Given the description of an element on the screen output the (x, y) to click on. 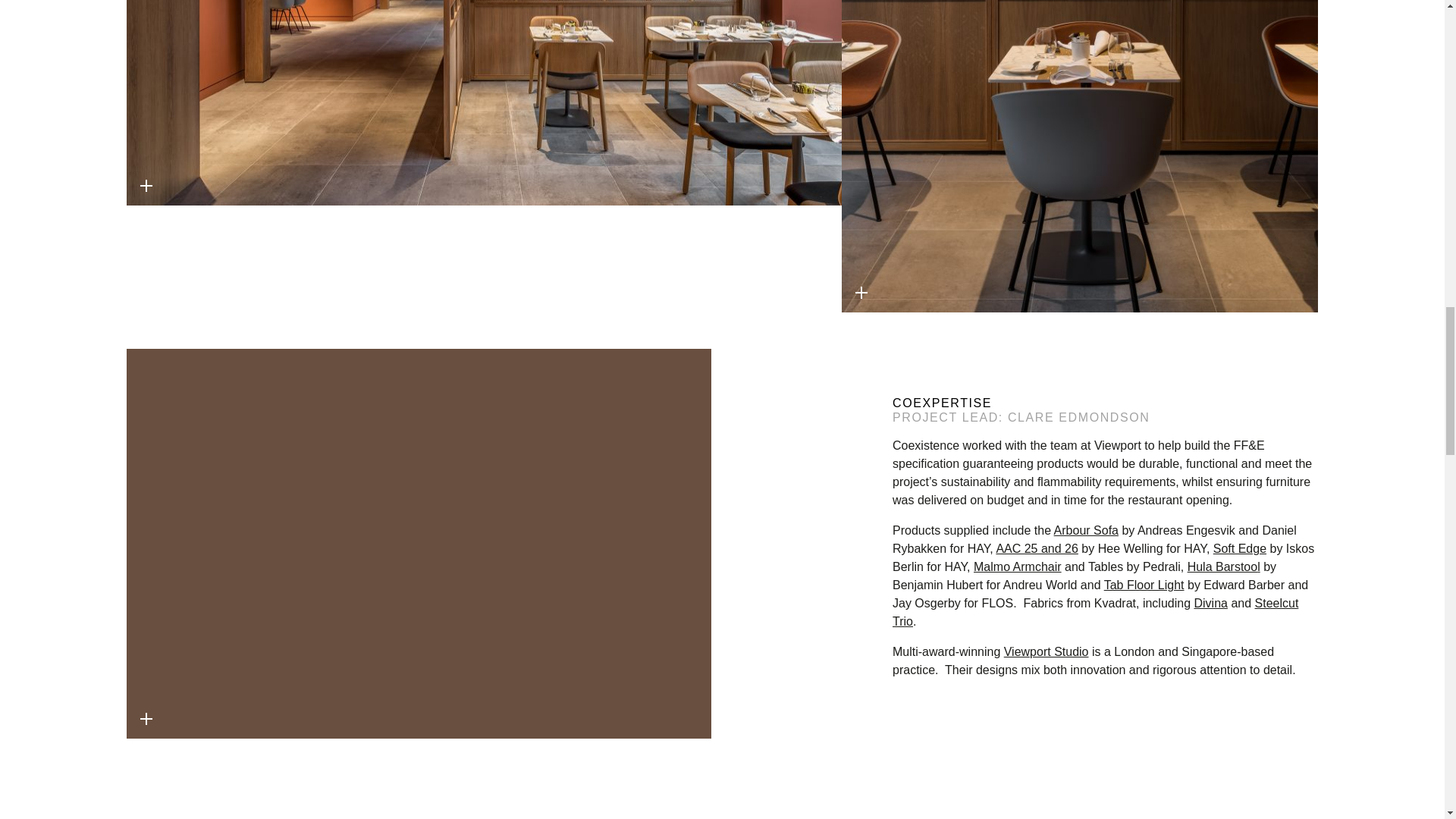
Steelcut Trio (1095, 612)
small add (860, 292)
Divina (1210, 603)
AAC 25 and 26 (1036, 548)
Hula Barstoo (1222, 566)
small add (145, 718)
Tab Floor Light (1144, 584)
Soft Edge (1239, 548)
Viewport Studio (1046, 651)
Arbour Sofa (1086, 530)
Malmo Armchair (1017, 566)
small add (145, 185)
